Given the description of an element on the screen output the (x, y) to click on. 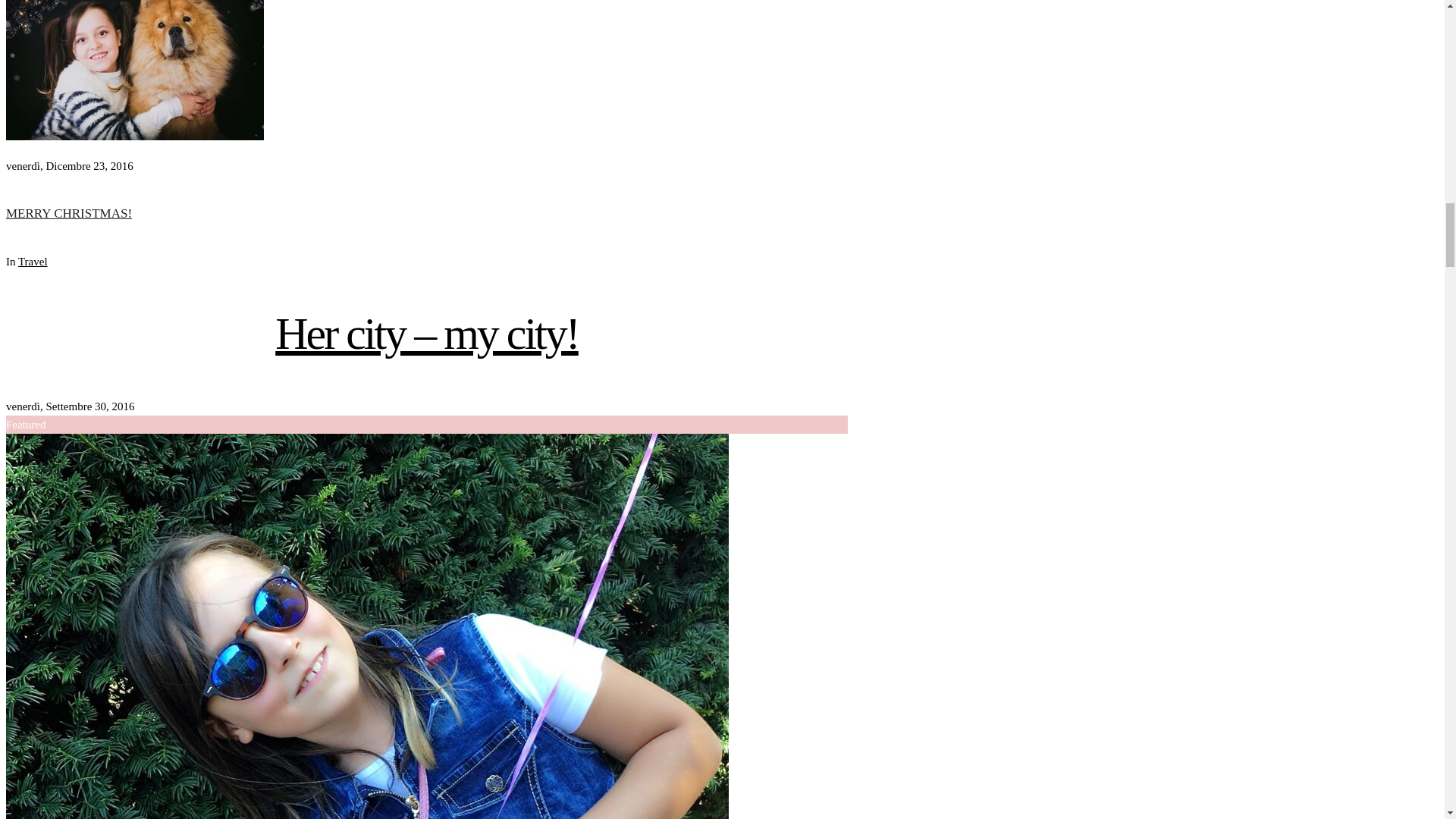
MERRY CHRISTMAS! (134, 136)
